Given the description of an element on the screen output the (x, y) to click on. 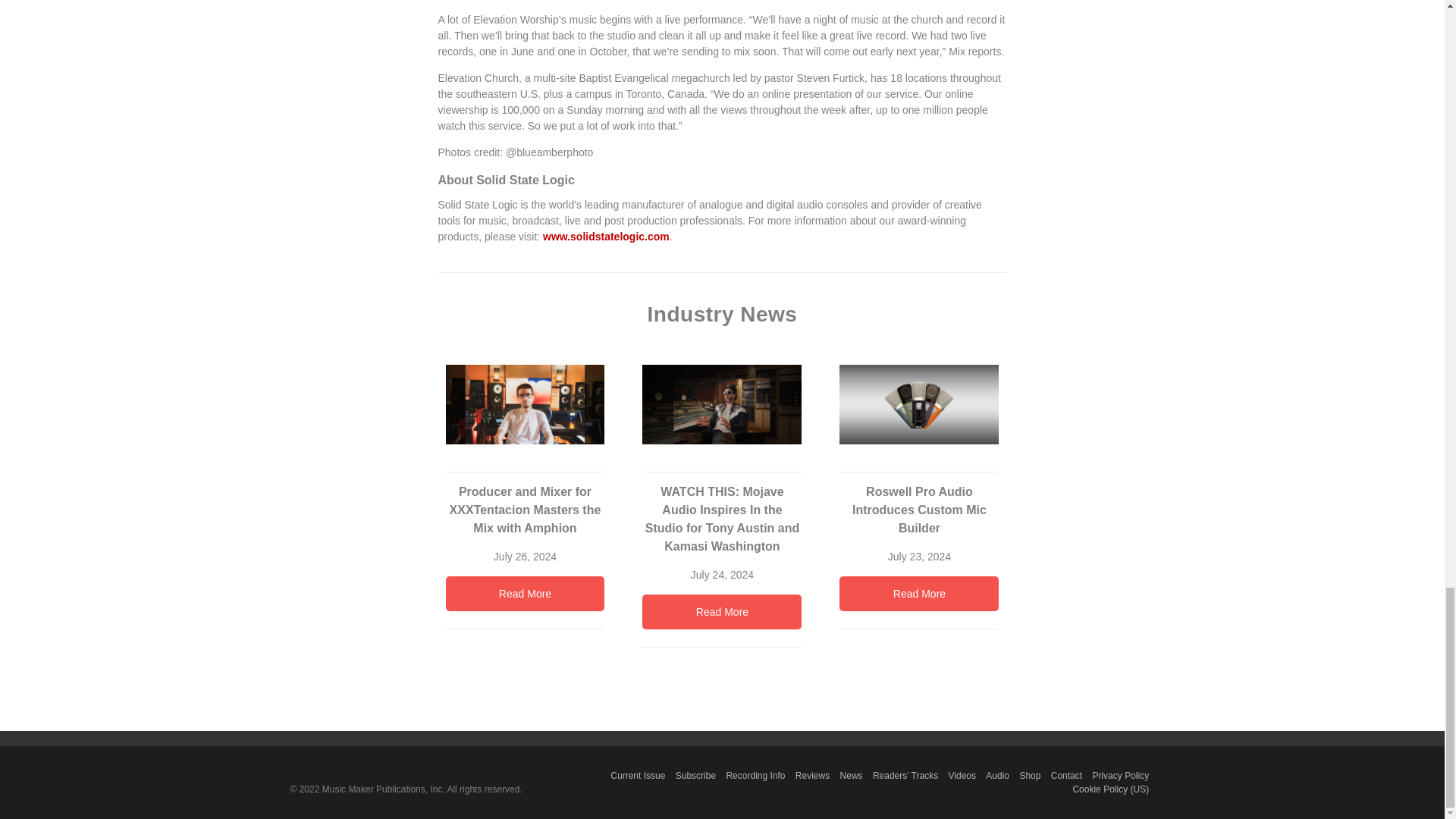
Mojave-Audio-Tony-Austin-Kamasi-Washington-1600px (722, 404)
Roswell-Pro-Audio-Introduces-Custom-Mic-Builder-1600px (919, 404)
Read More (525, 593)
Read More (919, 593)
Roswell Pro Audio Introduces Custom Mic Builder (919, 411)
Read More (722, 611)
XXXTentacion-Masters-the-Mix-with-Amphion-1600px (525, 404)
